Given the description of an element on the screen output the (x, y) to click on. 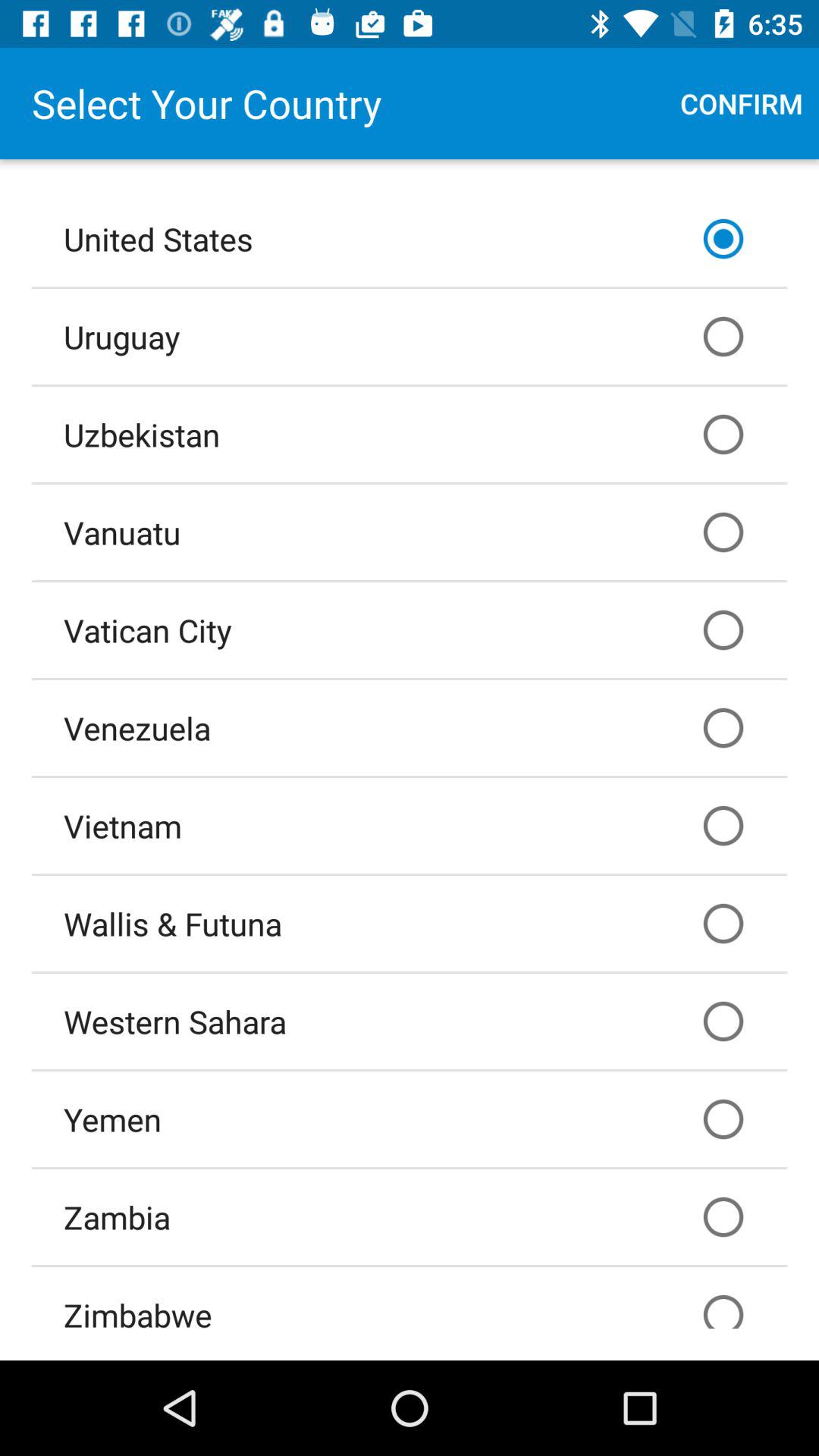
select icon above the united states (741, 103)
